Given the description of an element on the screen output the (x, y) to click on. 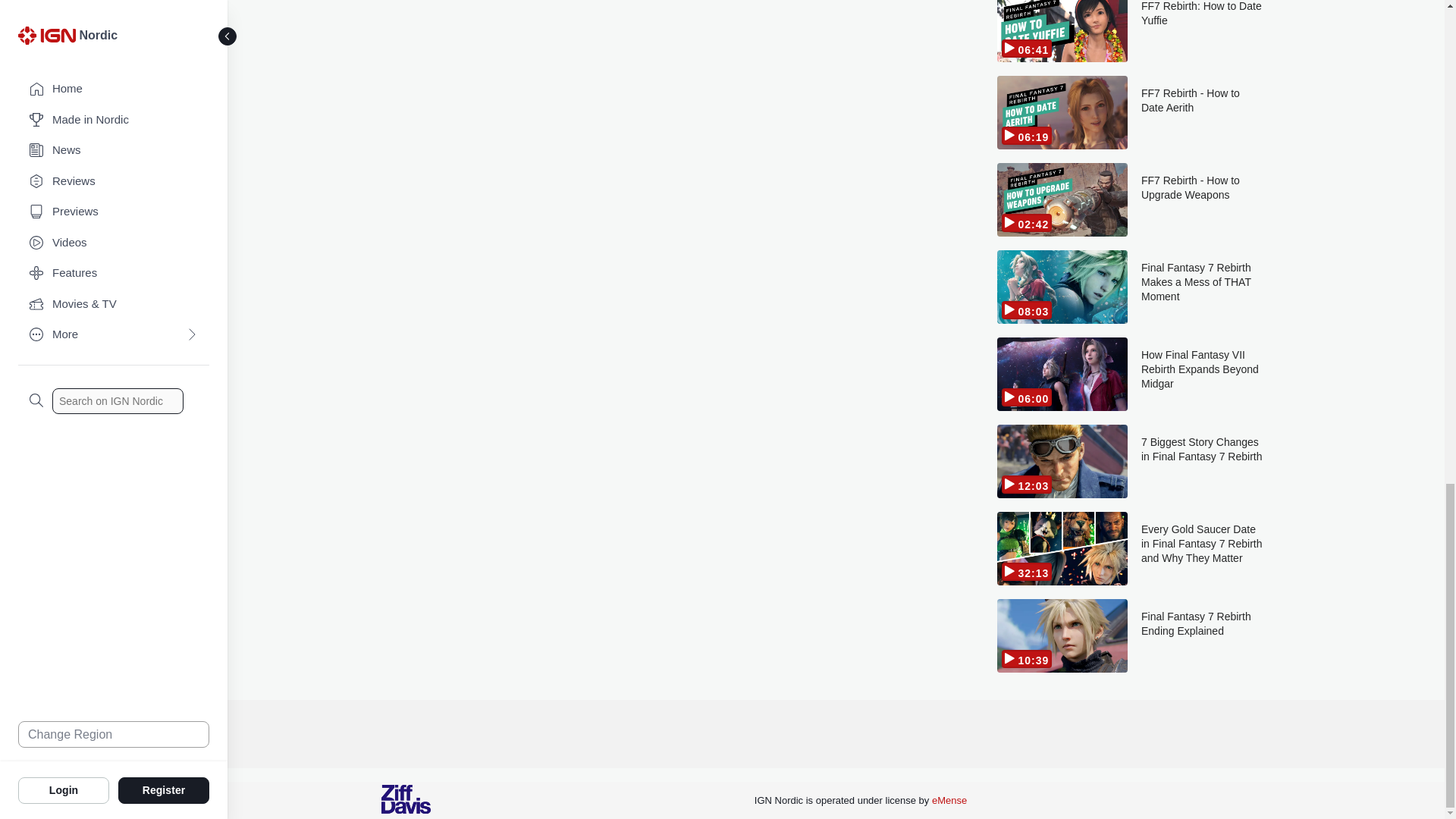
FF7 Rebirth: How to Date Yuffie (1202, 31)
06:41 (1060, 31)
3rd party ad content (835, 734)
